Given the description of an element on the screen output the (x, y) to click on. 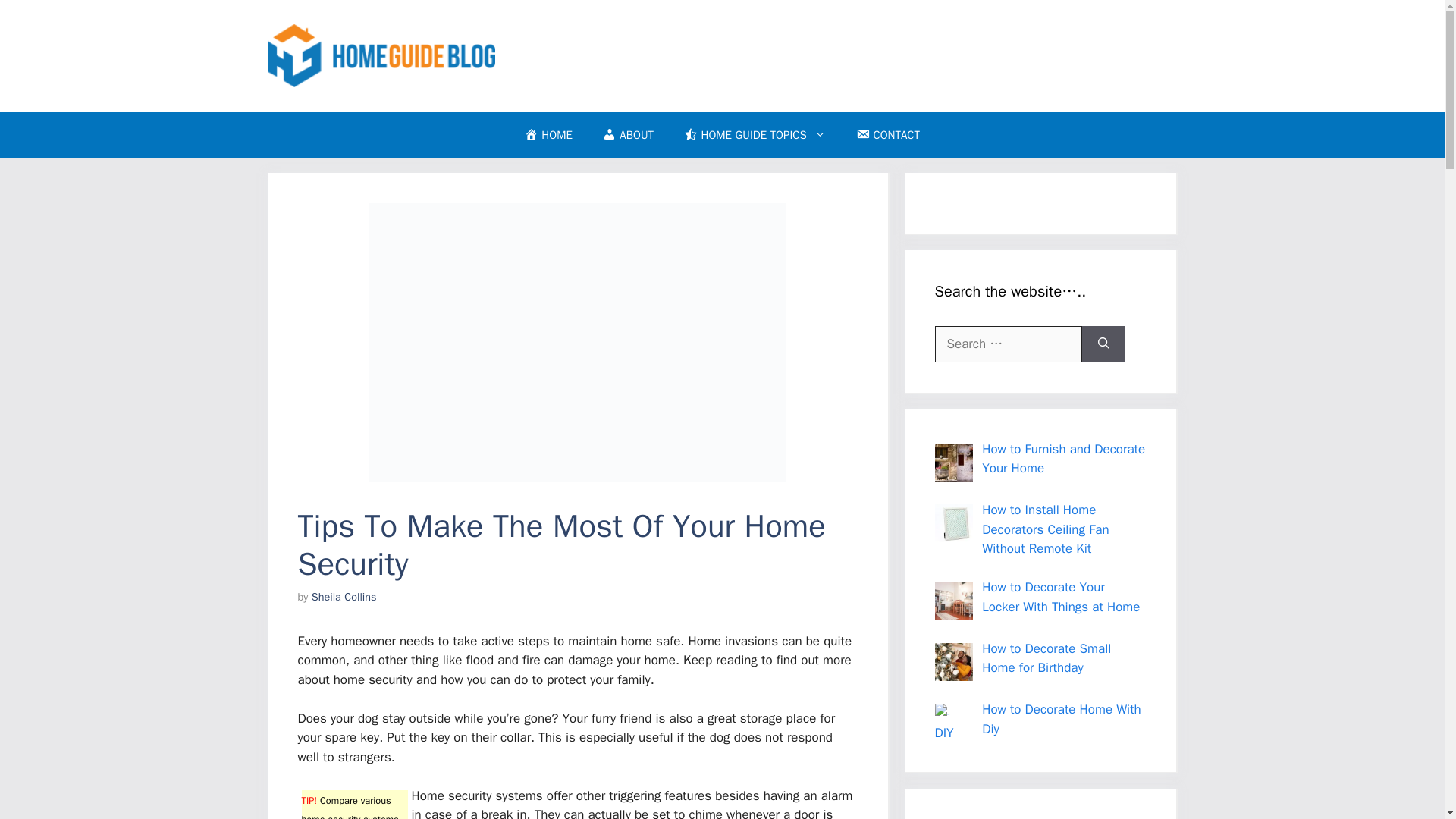
Sheila Collins (344, 596)
ABOUT (628, 135)
CONTACT (887, 135)
View all posts by Sheila Collins (344, 596)
HOME (548, 135)
HOME GUIDE TOPICS (754, 135)
Tips To Make The Most Of Your Home Security 1 (577, 342)
